Given the description of an element on the screen output the (x, y) to click on. 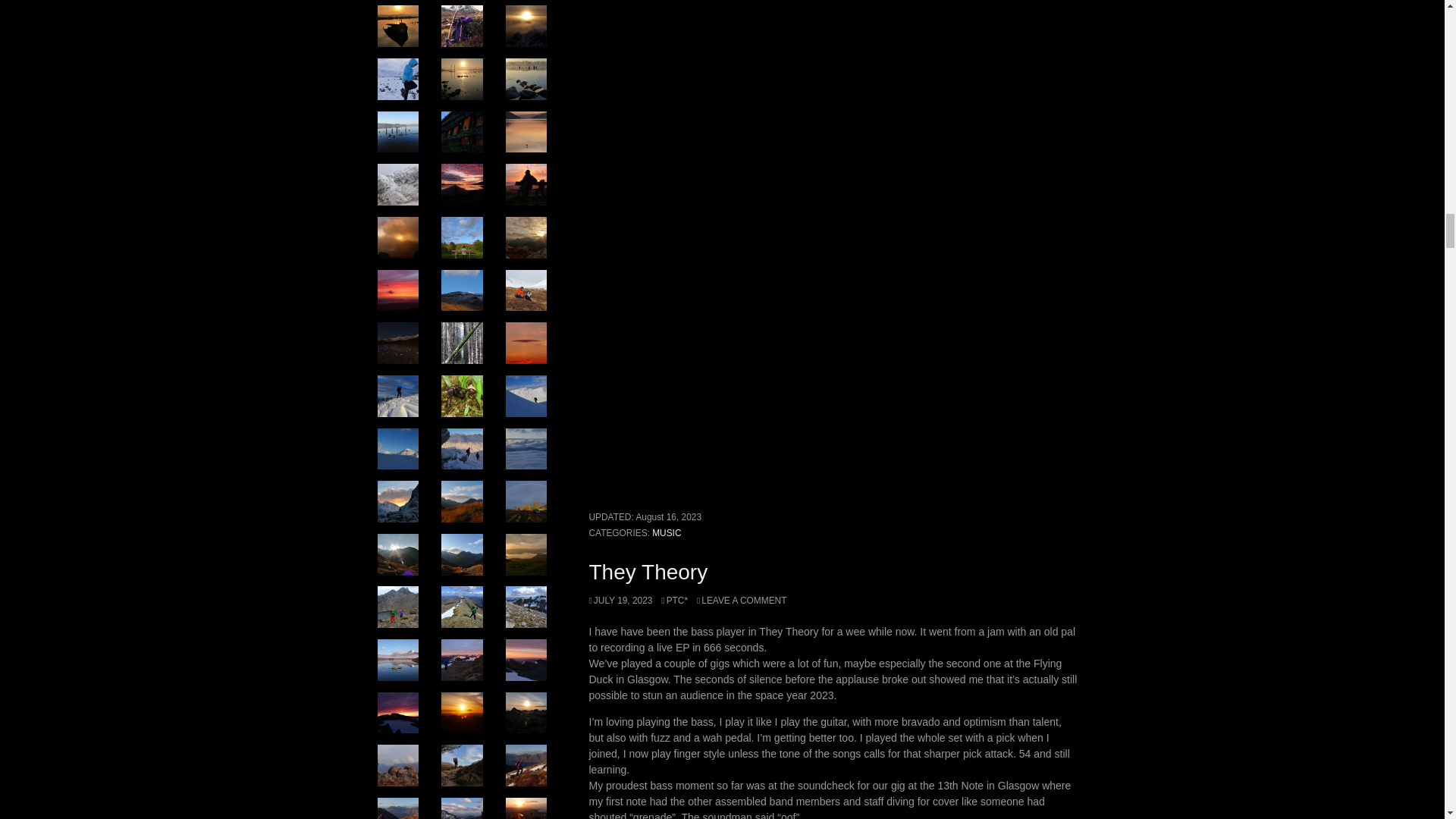
August 16, 2023 (667, 516)
They Theory (647, 571)
LEAVE A COMMENT (741, 600)
JULY 19, 2023 (620, 600)
MUSIC (666, 532)
